Given the description of an element on the screen output the (x, y) to click on. 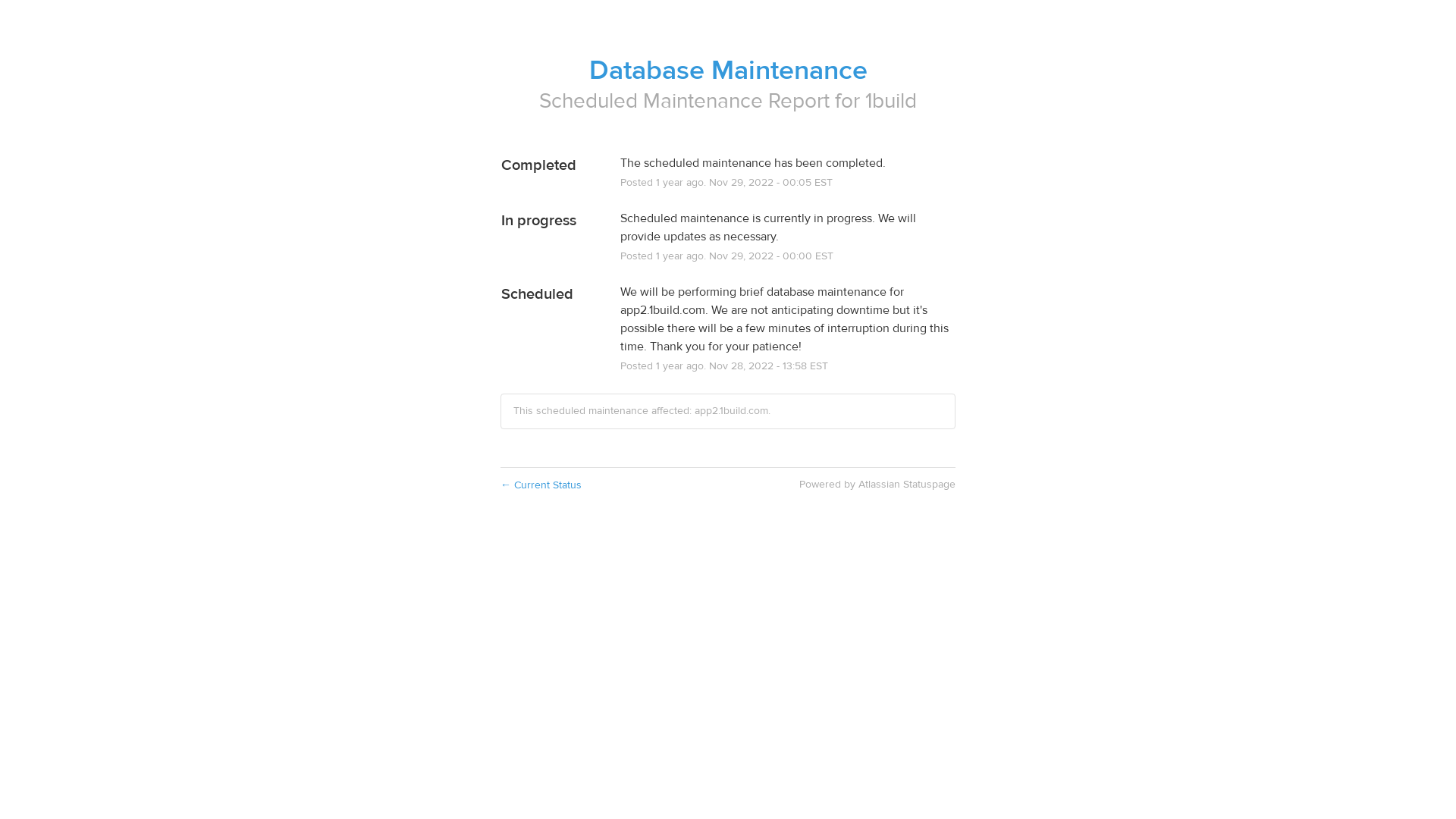
1build Element type: text (890, 100)
Powered by Atlassian Statuspage Element type: text (877, 484)
